Given the description of an element on the screen output the (x, y) to click on. 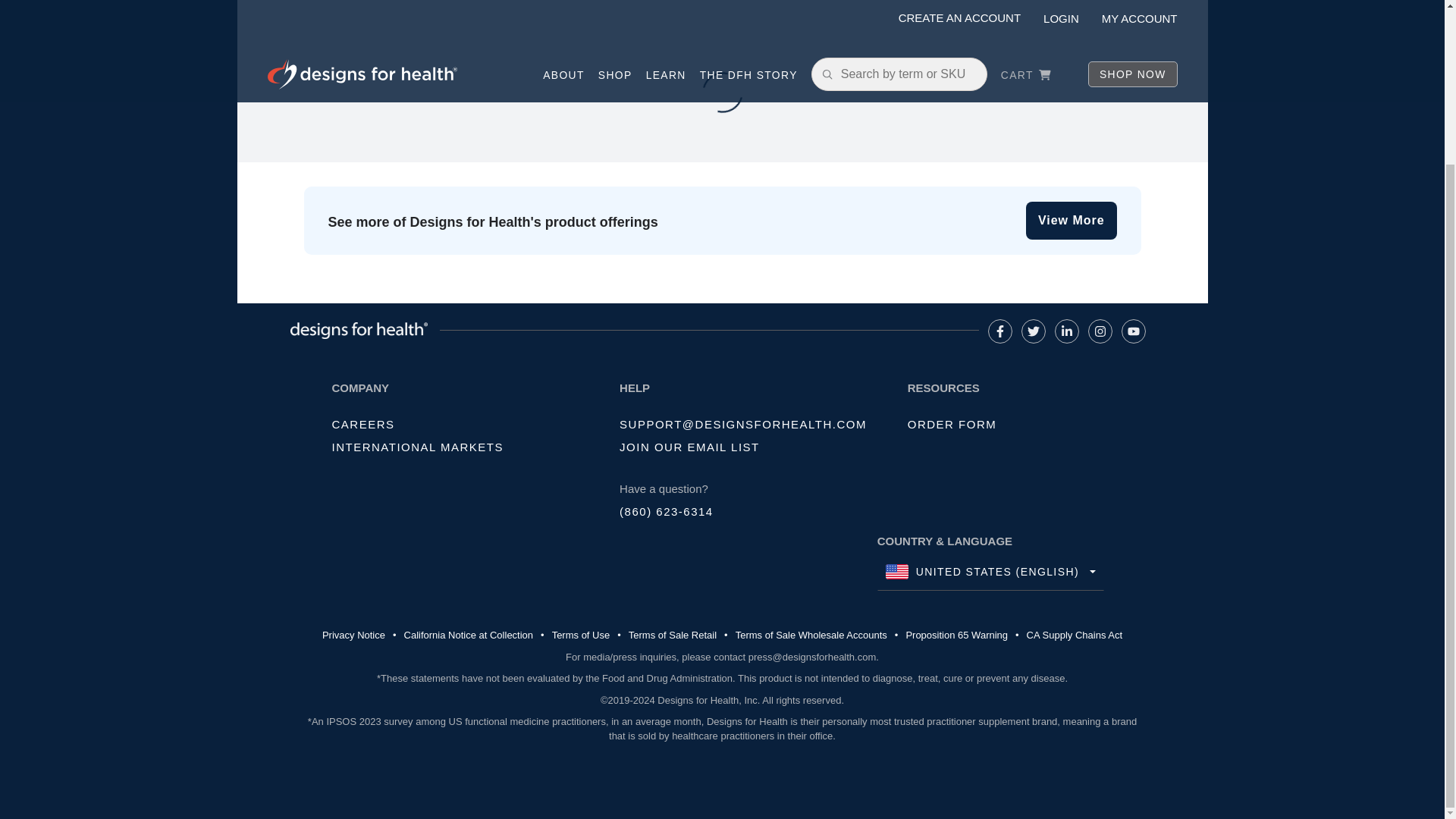
Instagram (1099, 331)
View More (1071, 220)
Facebook (999, 331)
LinkedIn (1066, 331)
Terms of Use (580, 635)
INTERNATIONAL MARKETS (417, 446)
JOIN OUR EMAIL LIST (690, 446)
CAREERS (362, 423)
California Notice at Collection (469, 635)
Privacy Notice (353, 635)
